Given the description of an element on the screen output the (x, y) to click on. 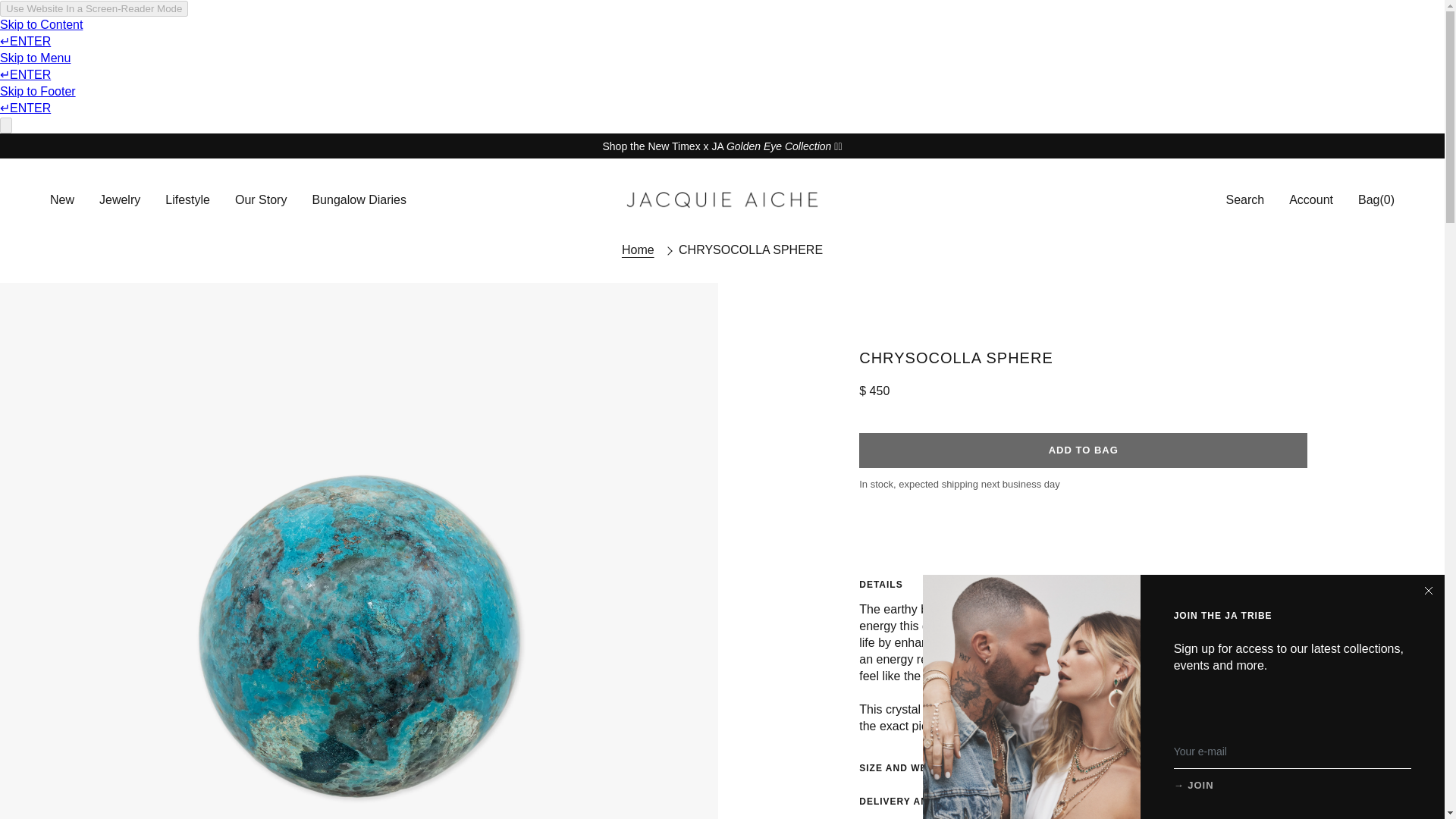
Timex (778, 145)
Lifestyle (187, 200)
Golden Eye Collection (778, 145)
Search (1187, 200)
Jewelry (119, 200)
